Given the description of an element on the screen output the (x, y) to click on. 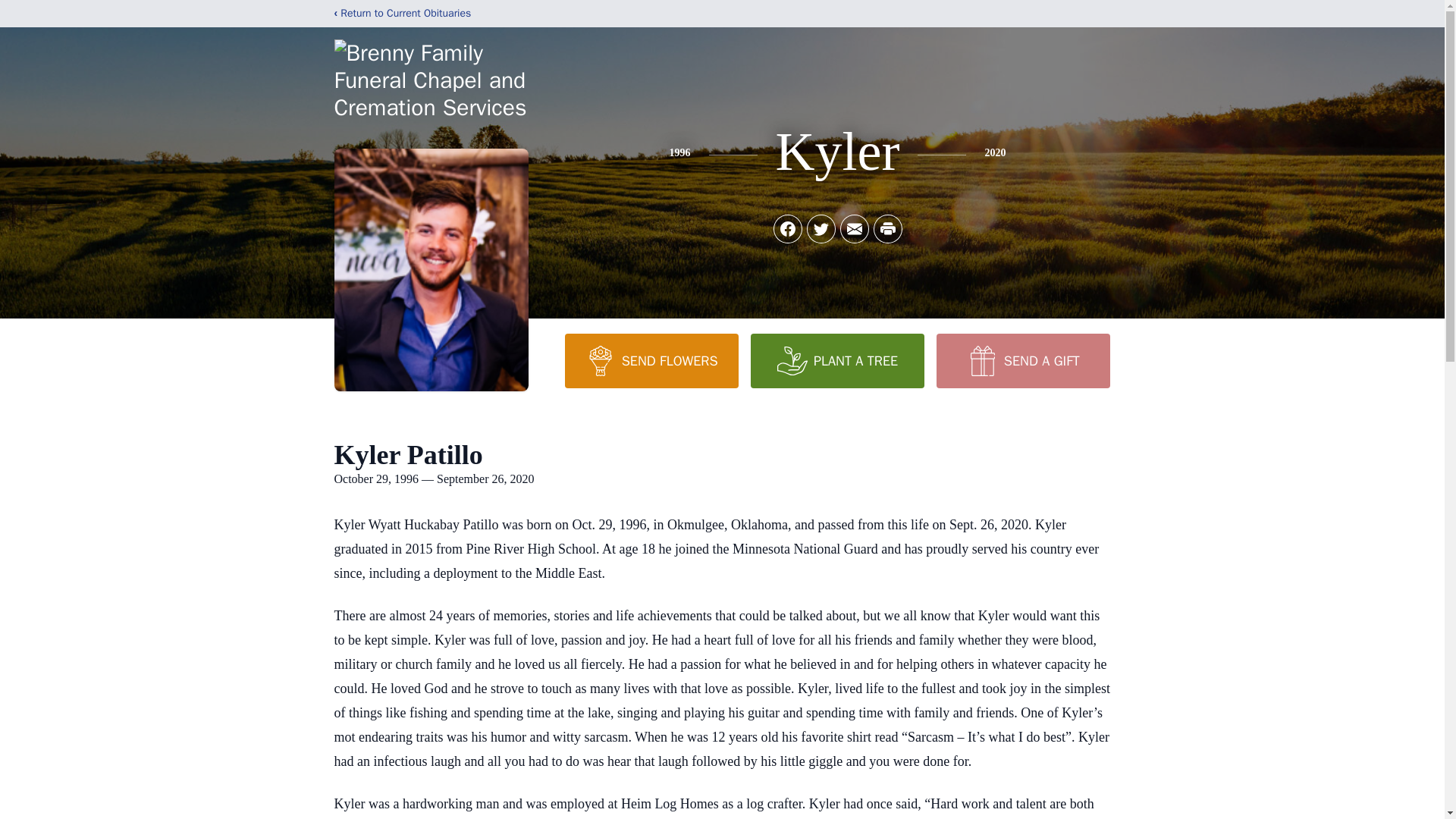
PLANT A TREE (837, 360)
SEND FLOWERS (651, 360)
SEND A GIFT (1022, 360)
